Given the description of an element on the screen output the (x, y) to click on. 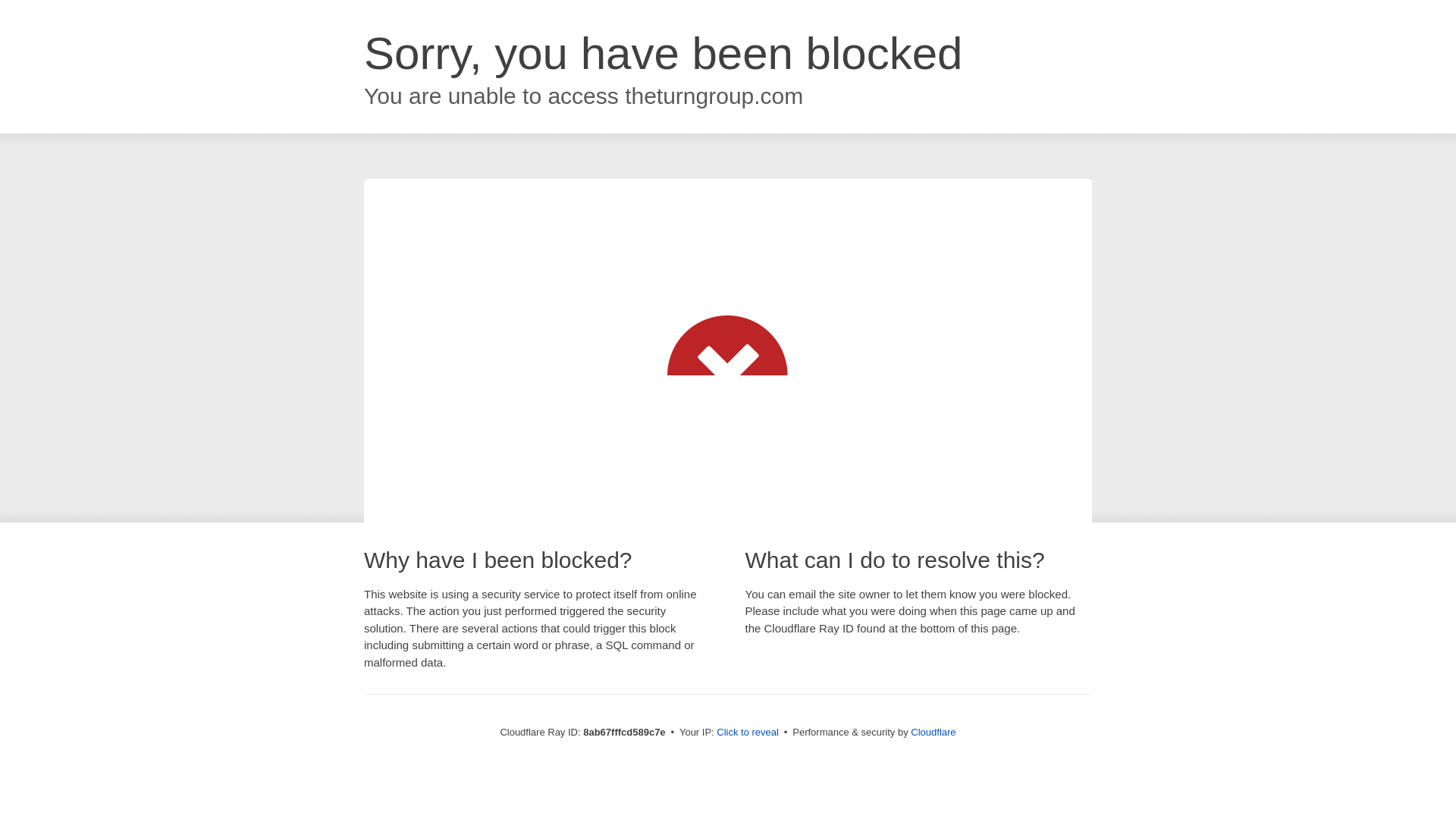
Click to reveal (747, 732)
Cloudflare (933, 731)
